Given the description of an element on the screen output the (x, y) to click on. 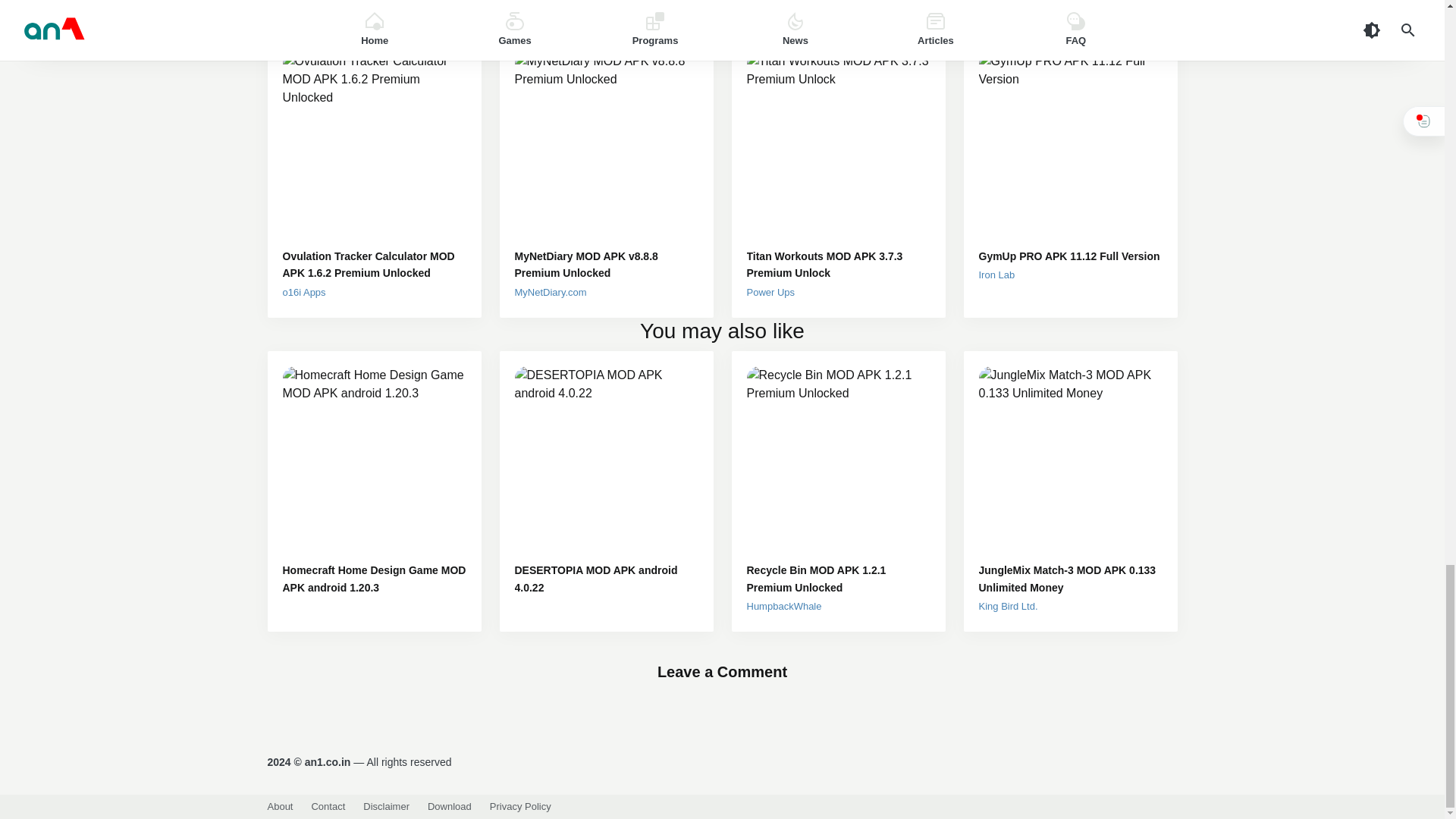
Titan Workouts MOD APK 3.7.3 Premium Unlock (837, 264)
GymUp PRO APK 11.12 Full Version (1069, 256)
Recycle Bin MOD APK 1.2.1 Premium Unlocked (837, 578)
DESERTOPIA MOD APK android 4.0.22 (605, 578)
Ovulation Tracker Calculator MOD APK 1.6.2 Premium Unlocked (373, 264)
MyNetDiary MOD APK v8.8.8 Premium Unlocked (605, 264)
Homecraft Home Design Game MOD APK android 1.20.3 (373, 578)
